Given the description of an element on the screen output the (x, y) to click on. 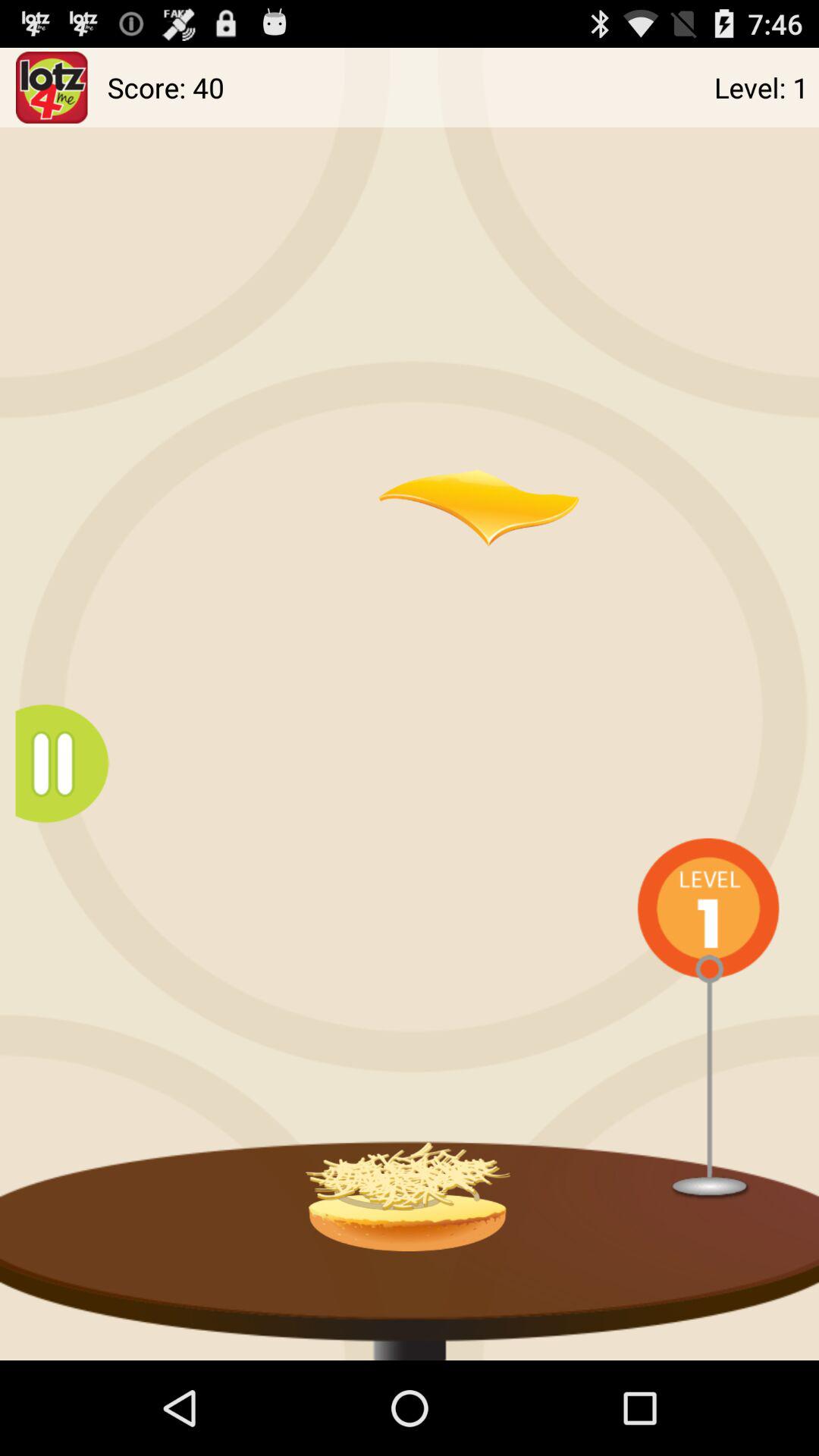
pause the game (69, 763)
